Given the description of an element on the screen output the (x, y) to click on. 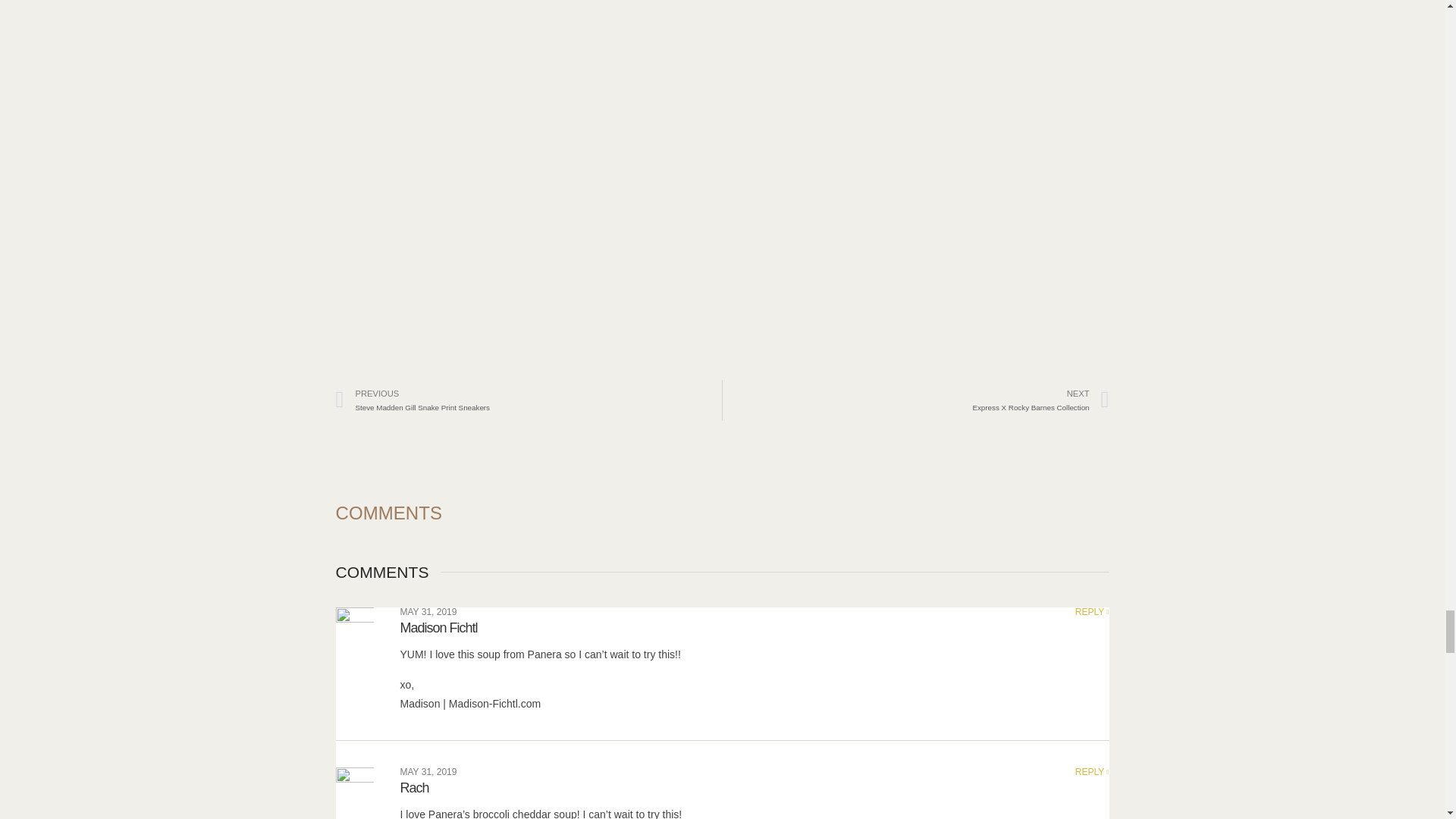
REPLY (528, 400)
Rach (1092, 611)
MAY 31, 2019 (414, 787)
MAY 31, 2019 (915, 400)
REPLY (428, 771)
